Given the description of an element on the screen output the (x, y) to click on. 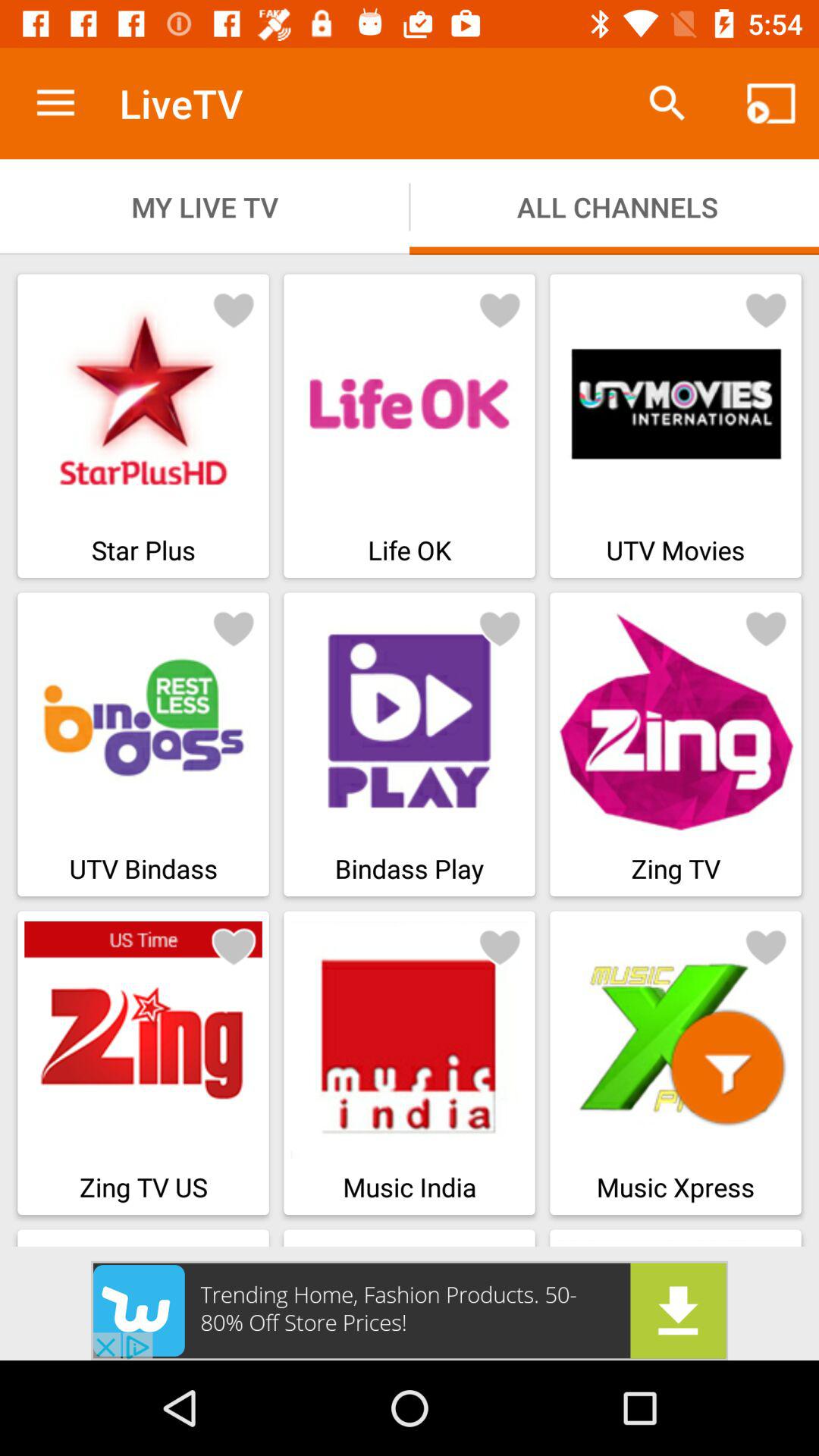
like button (233, 627)
